Given the description of an element on the screen output the (x, y) to click on. 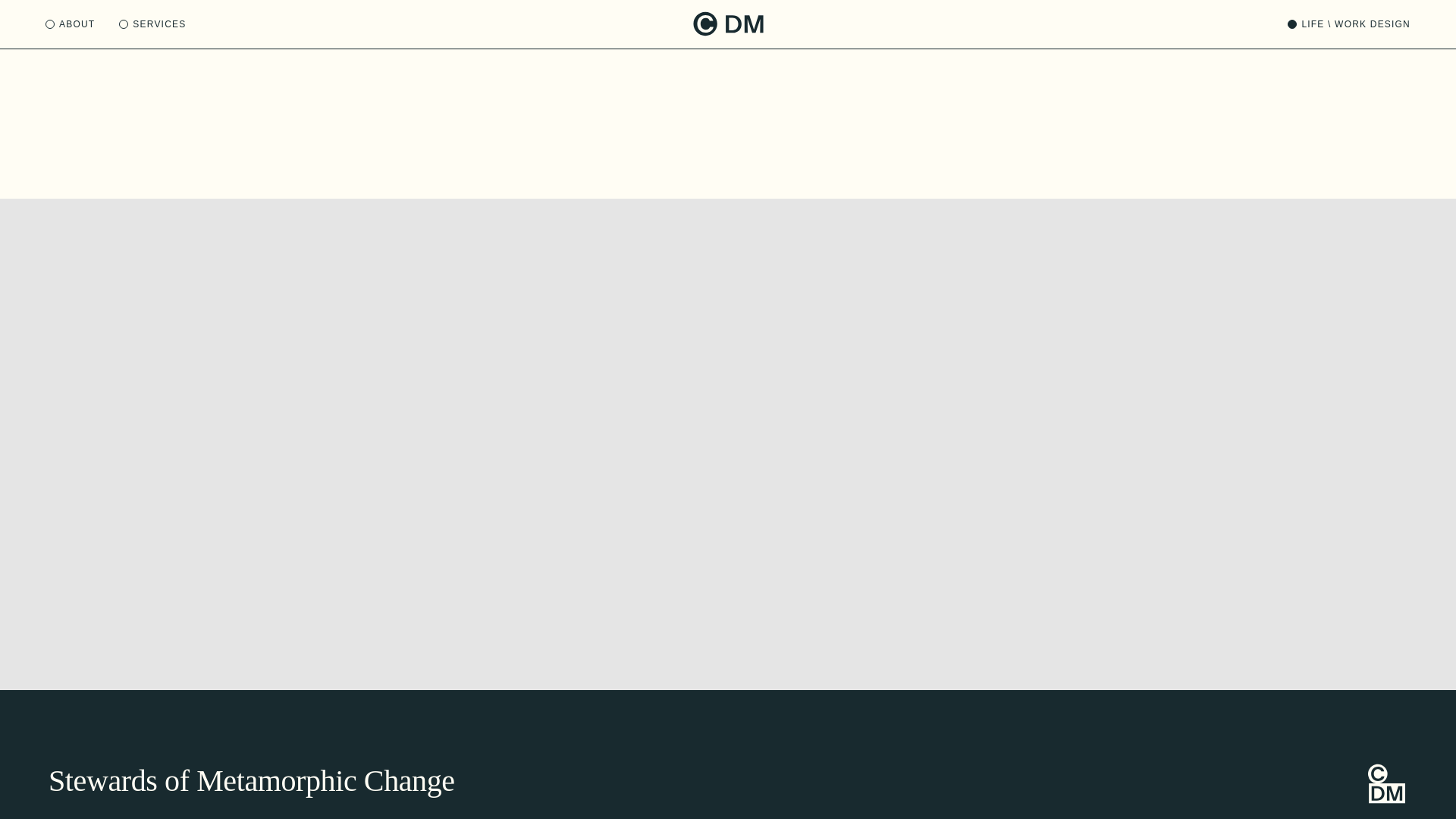
Submit (1091, 97)
